Given the description of an element on the screen output the (x, y) to click on. 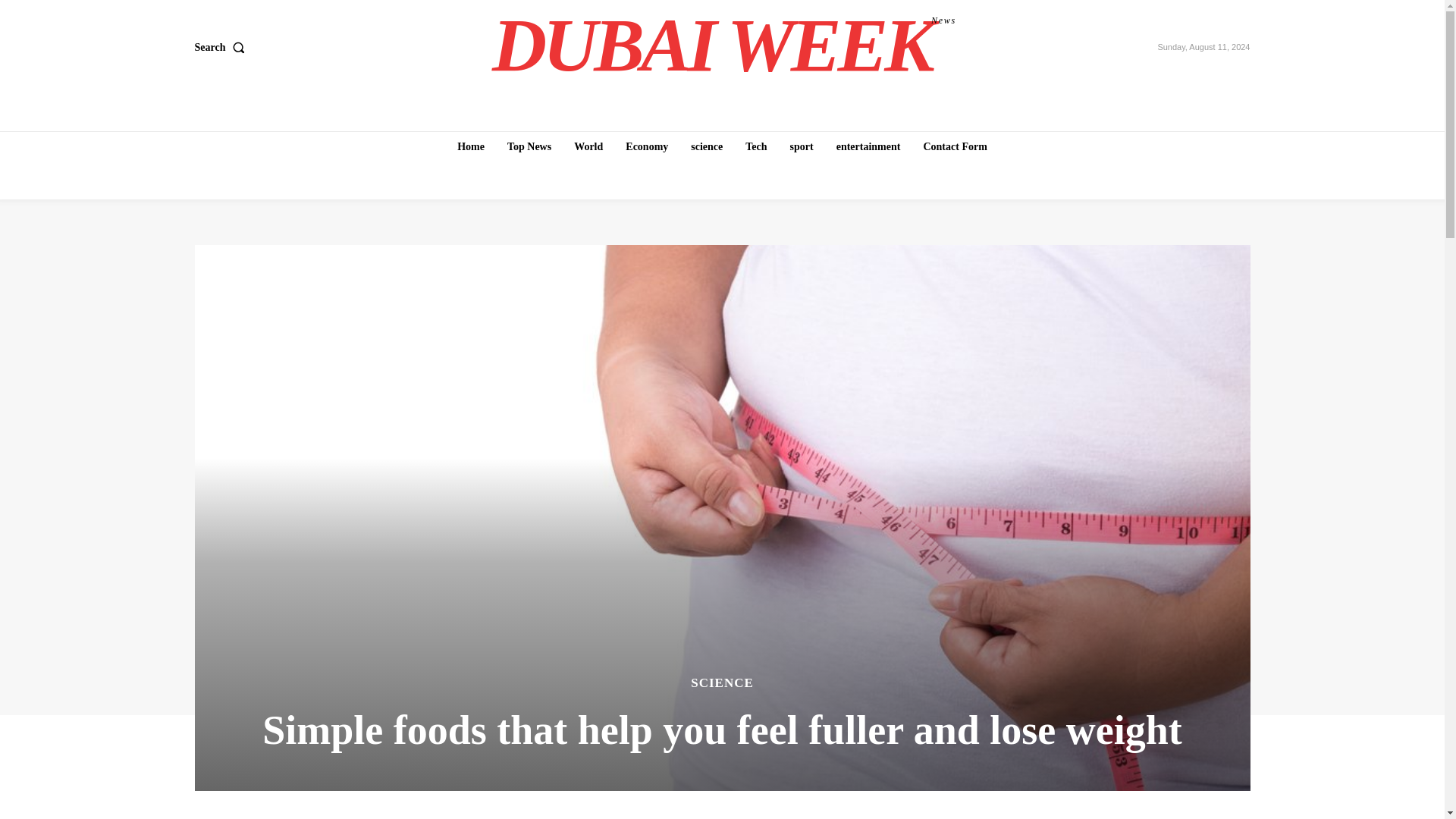
entertainment (868, 146)
Tech (756, 146)
Economy (646, 146)
Search (221, 47)
World (588, 146)
Top News (529, 146)
science (706, 146)
sport (802, 146)
Contact Form (954, 146)
Home (470, 146)
